Given the description of an element on the screen output the (x, y) to click on. 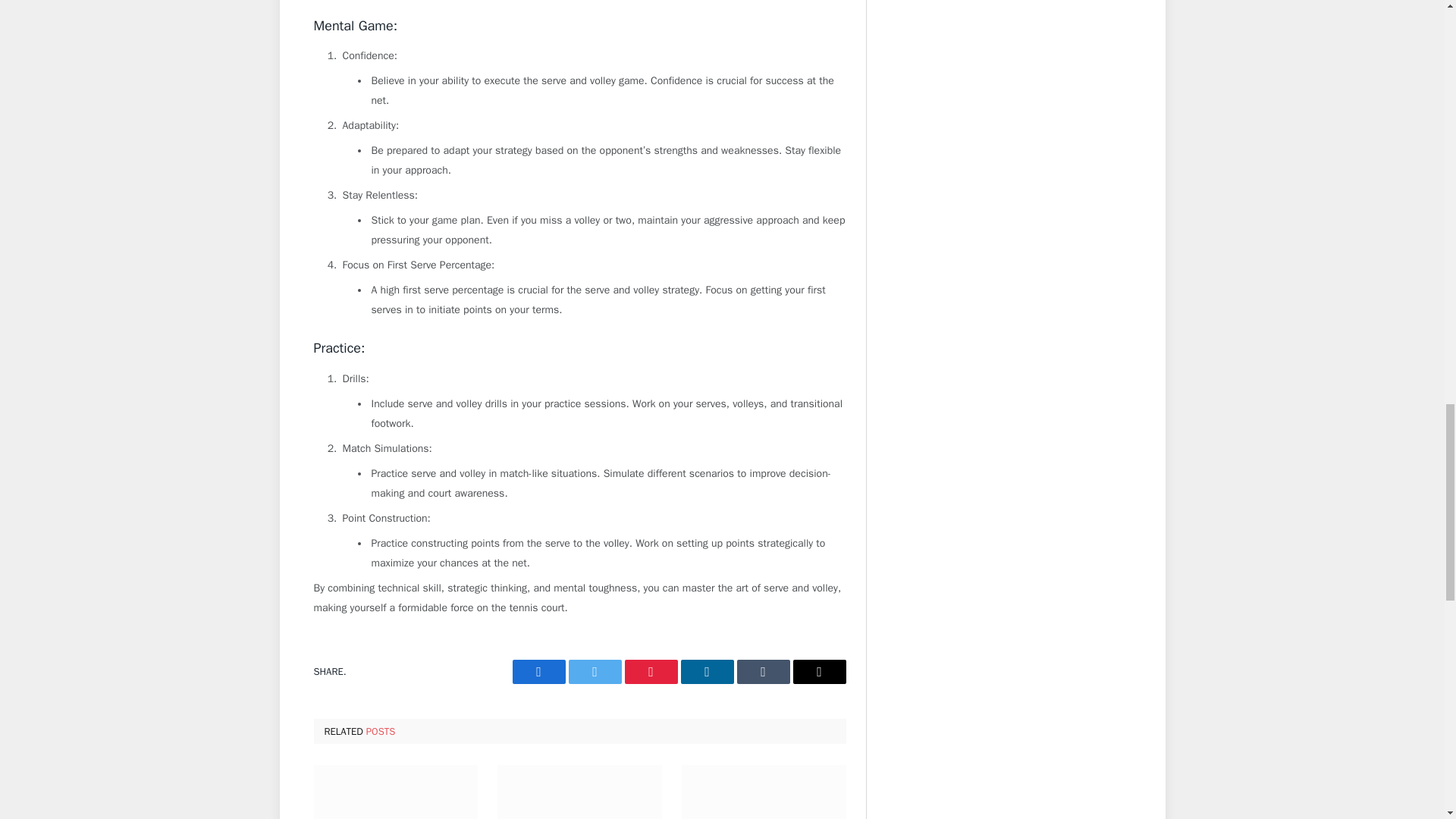
The Art of Perfecting Your Serve: Tips and Techniques (396, 791)
Share via Email (819, 671)
Share on Pinterest (651, 671)
Share on Tumblr (763, 671)
Facebook (539, 671)
Email (819, 671)
Tumblr (763, 671)
Tennis and Sportsmanship: Lessons from Legendary Players (579, 791)
LinkedIn (707, 671)
Share on LinkedIn (707, 671)
Share on Facebook (539, 671)
Twitter (595, 671)
Pinterest (651, 671)
